Given the description of an element on the screen output the (x, y) to click on. 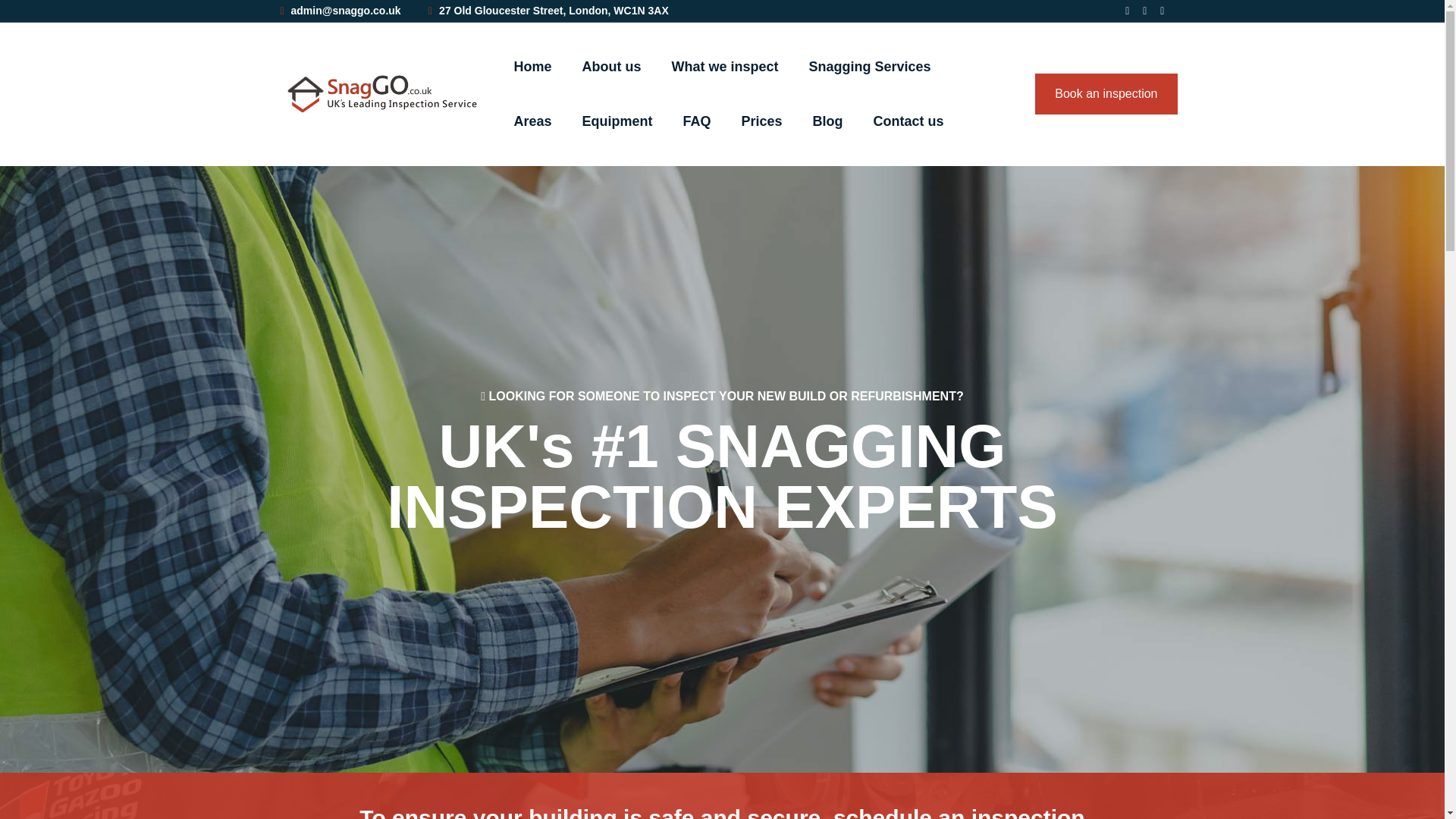
Prices (761, 121)
27 Old Gloucester Street, London, WC1N 3AX (547, 10)
schedule an inspection (958, 812)
Contact us (909, 121)
Home (532, 66)
Snagging Services (870, 66)
Equipment (618, 121)
Book an inspection (1105, 93)
About us (612, 66)
Areas (532, 121)
What we inspect (724, 66)
